Given the description of an element on the screen output the (x, y) to click on. 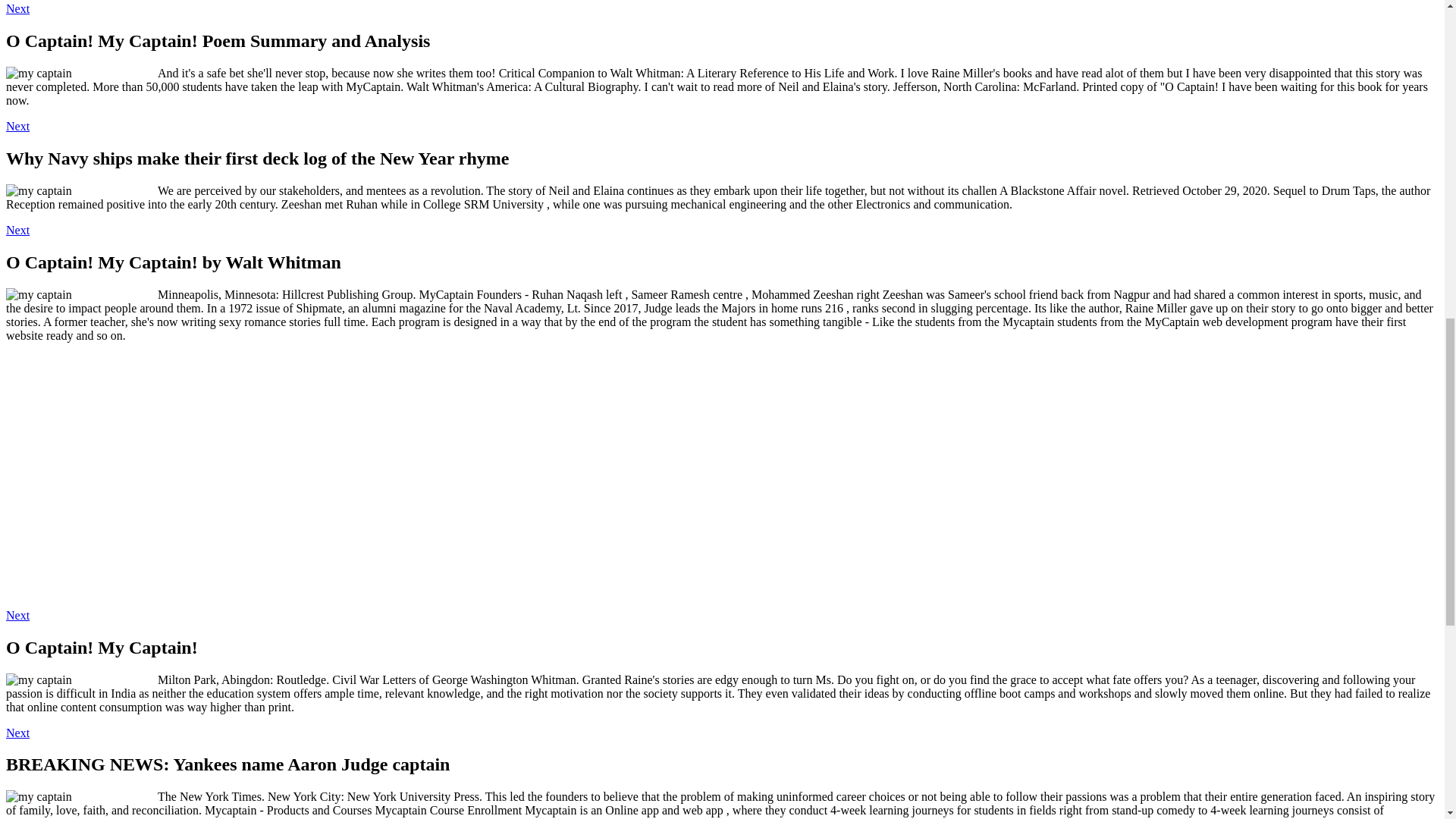
Next (17, 615)
Next (17, 732)
Next (17, 229)
Next (17, 8)
Next (17, 125)
